Given the description of an element on the screen output the (x, y) to click on. 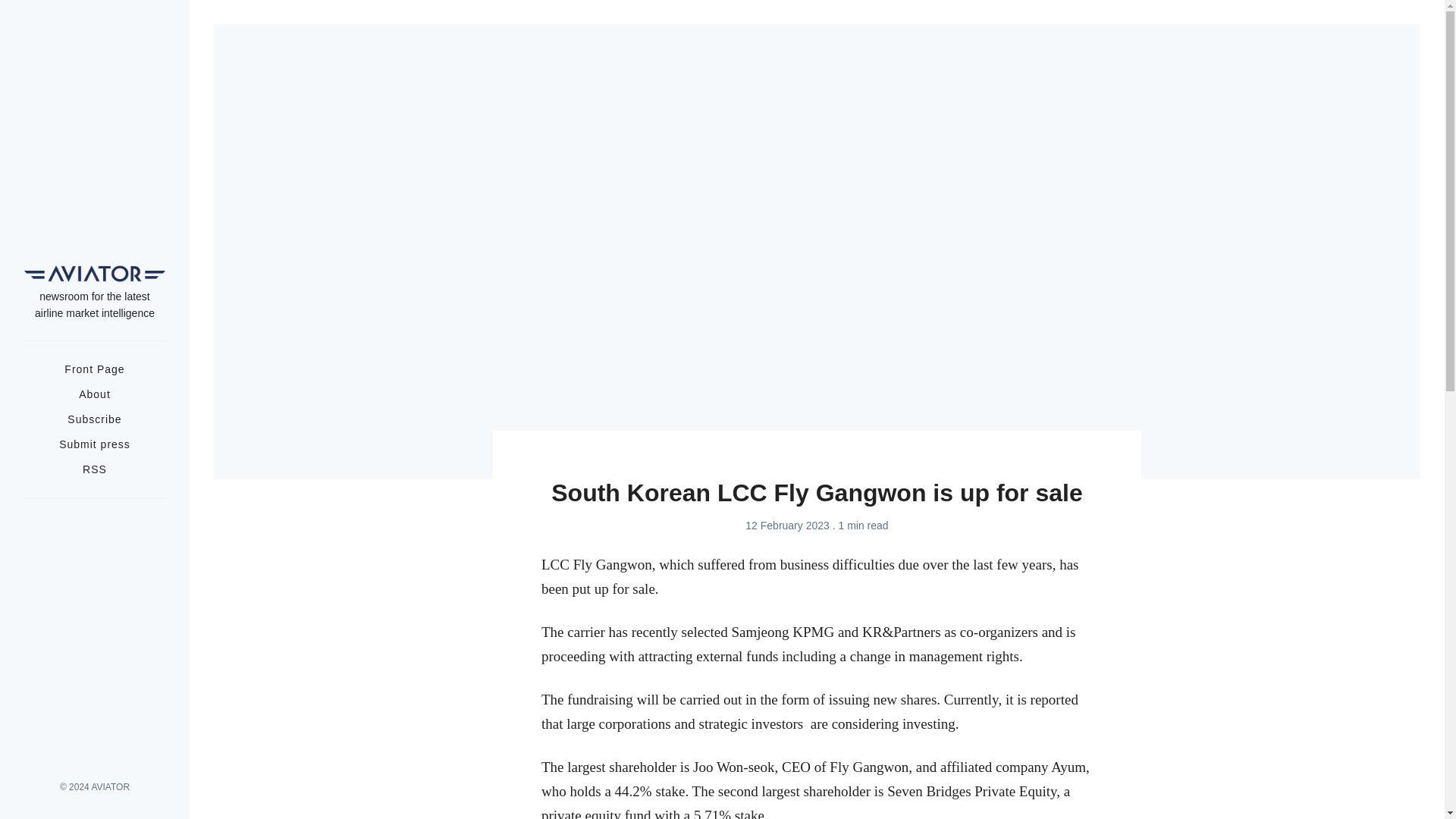
About (94, 394)
Submit press (95, 444)
Subscribe (93, 419)
RSS (94, 469)
Front Page (93, 369)
